Given the description of an element on the screen output the (x, y) to click on. 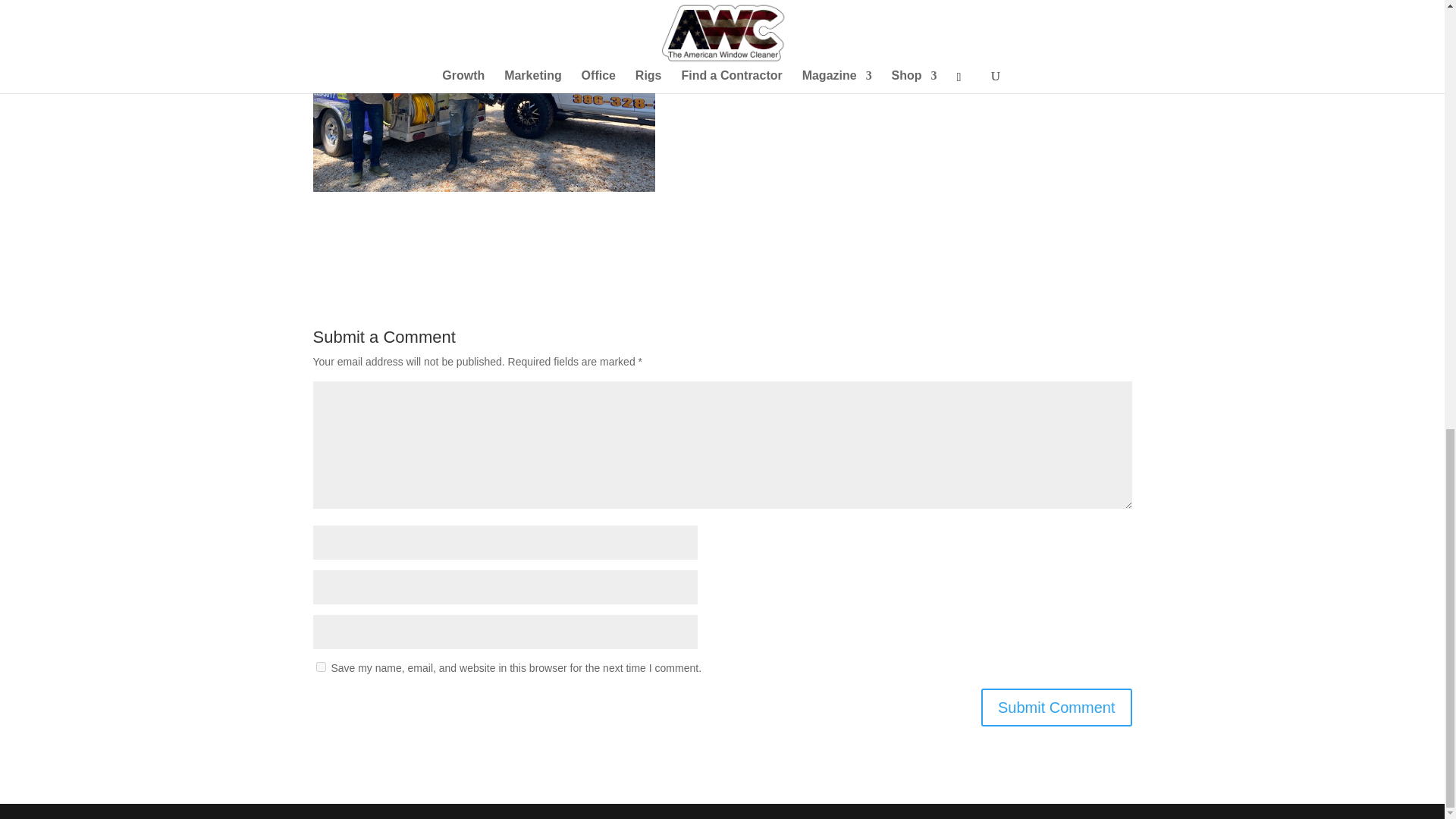
Submit Comment (1056, 707)
yes (319, 666)
